Given the description of an element on the screen output the (x, y) to click on. 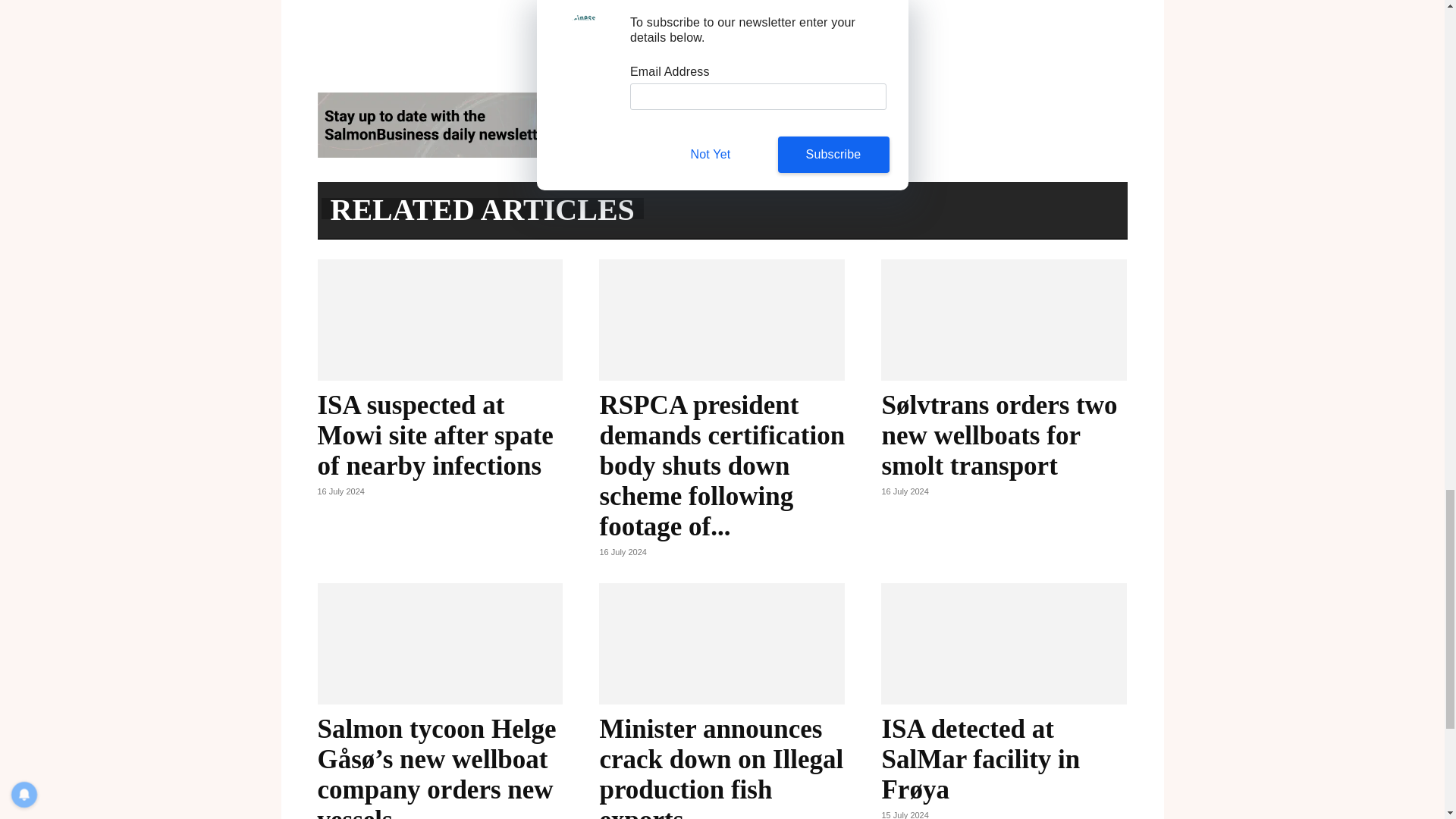
ISA suspected at Mowi site after spate of nearby infections (435, 435)
ISA suspected at Mowi site after spate of nearby infections (435, 435)
Twitter (793, 19)
ISA suspected at Mowi site after spate of nearby infections (439, 319)
Facebook (759, 19)
Linkedin (828, 19)
